Given the description of an element on the screen output the (x, y) to click on. 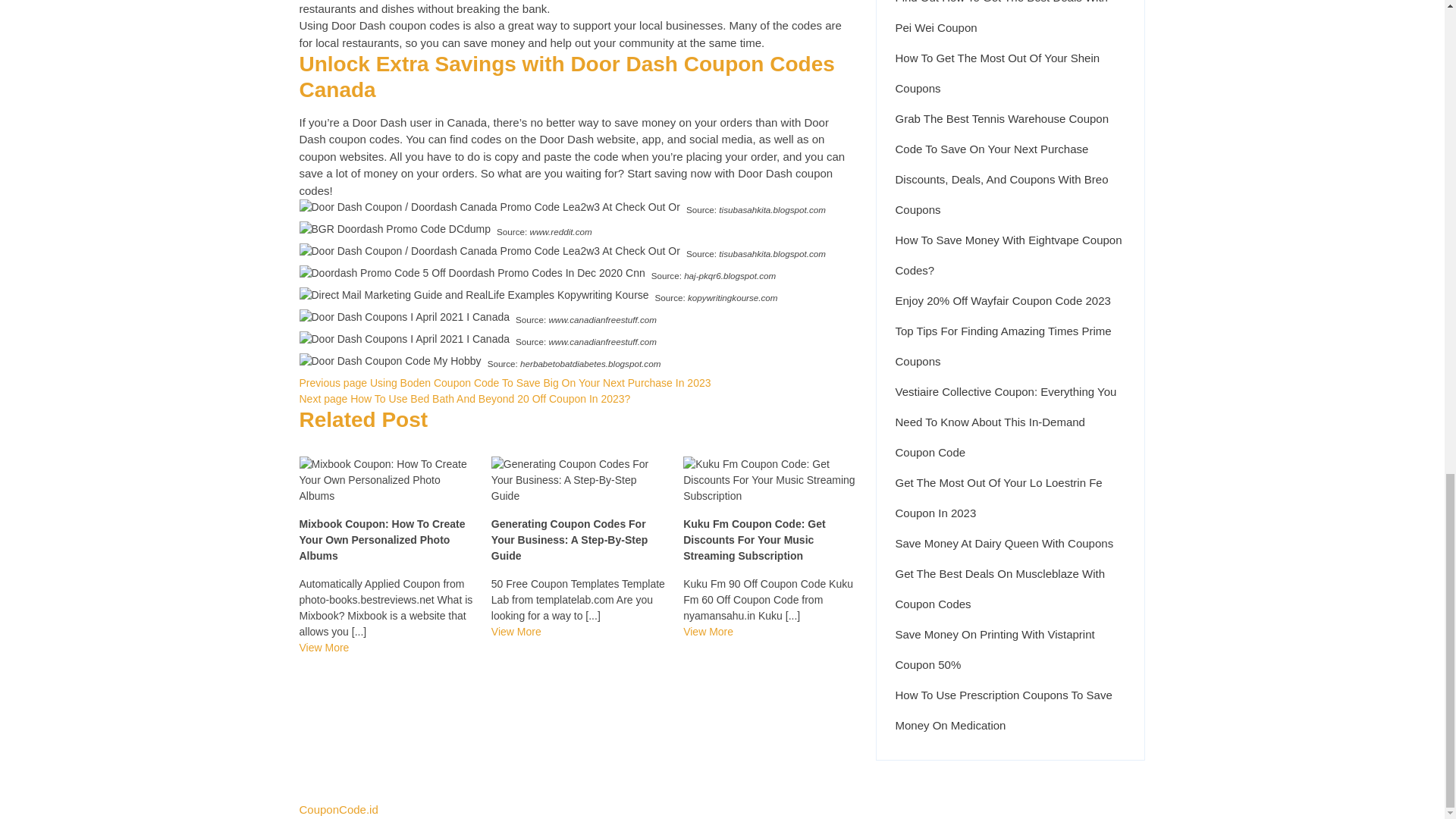
View More (323, 647)
View More (516, 631)
View More (707, 631)
